Given the description of an element on the screen output the (x, y) to click on. 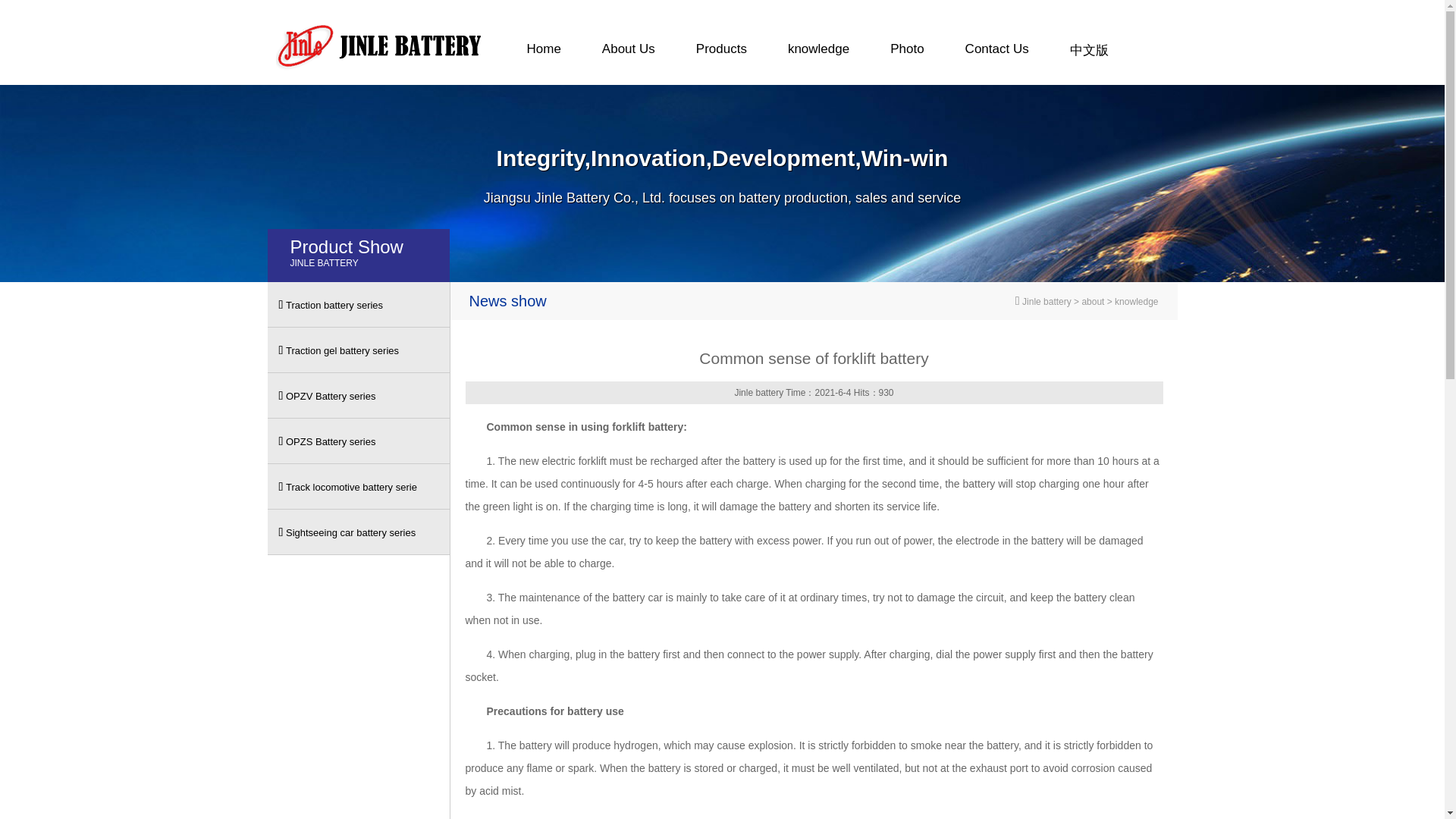
Contact Us (996, 50)
Home (543, 50)
About Us (627, 50)
Products (721, 50)
Photo (906, 50)
knowledge (818, 50)
